Given the description of an element on the screen output the (x, y) to click on. 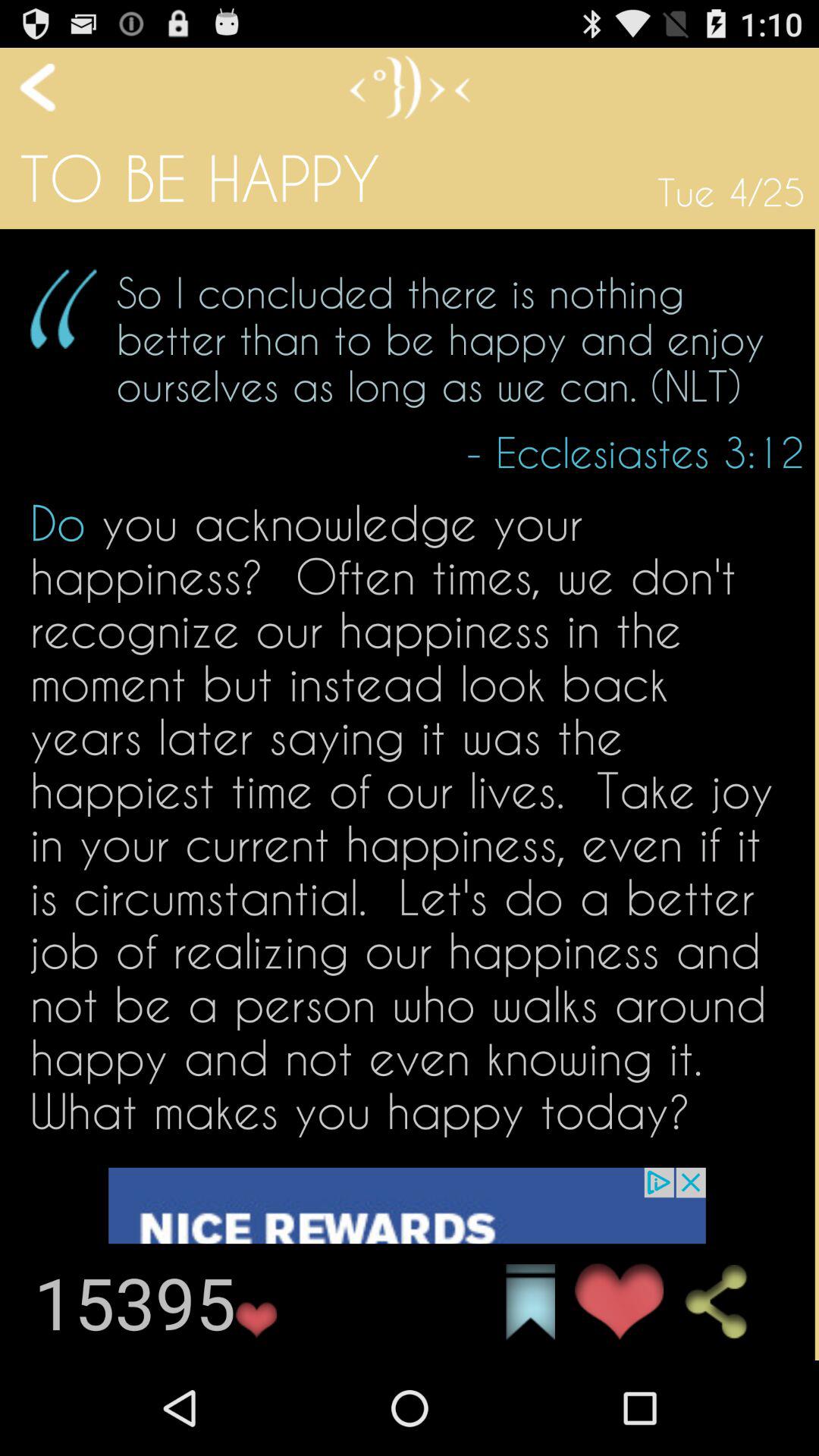
advertisement (406, 1263)
